Given the description of an element on the screen output the (x, y) to click on. 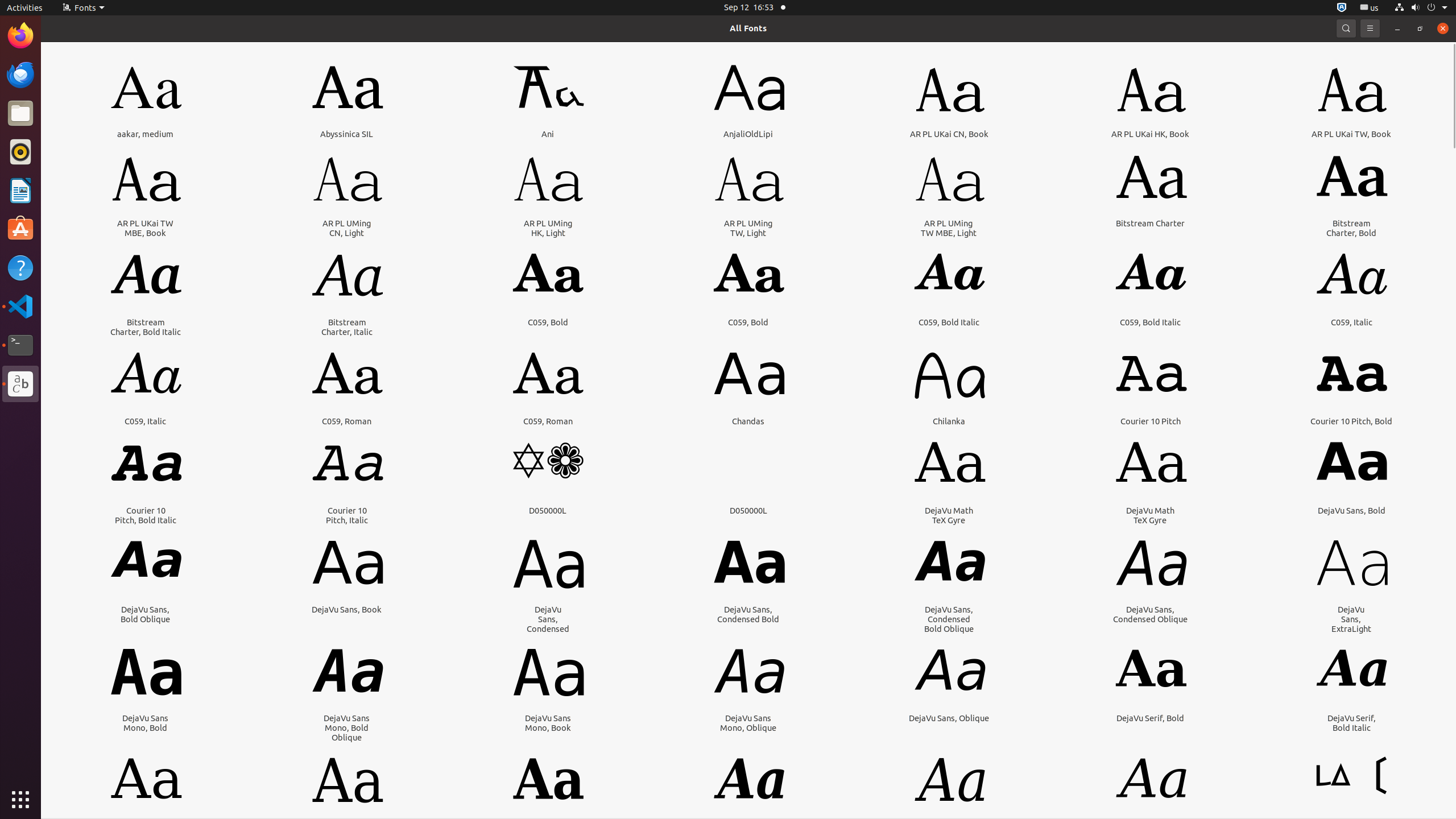
DejaVu Sans, Book Element type: label (346, 609)
Restore Element type: push-button (1419, 27)
AR PL UKai TW, Book Element type: label (1351, 133)
DejaVu Sans Mono, Bold Oblique Element type: label (346, 727)
AR PL UKai HK, Book Element type: label (1150, 133)
